Given the description of an element on the screen output the (x, y) to click on. 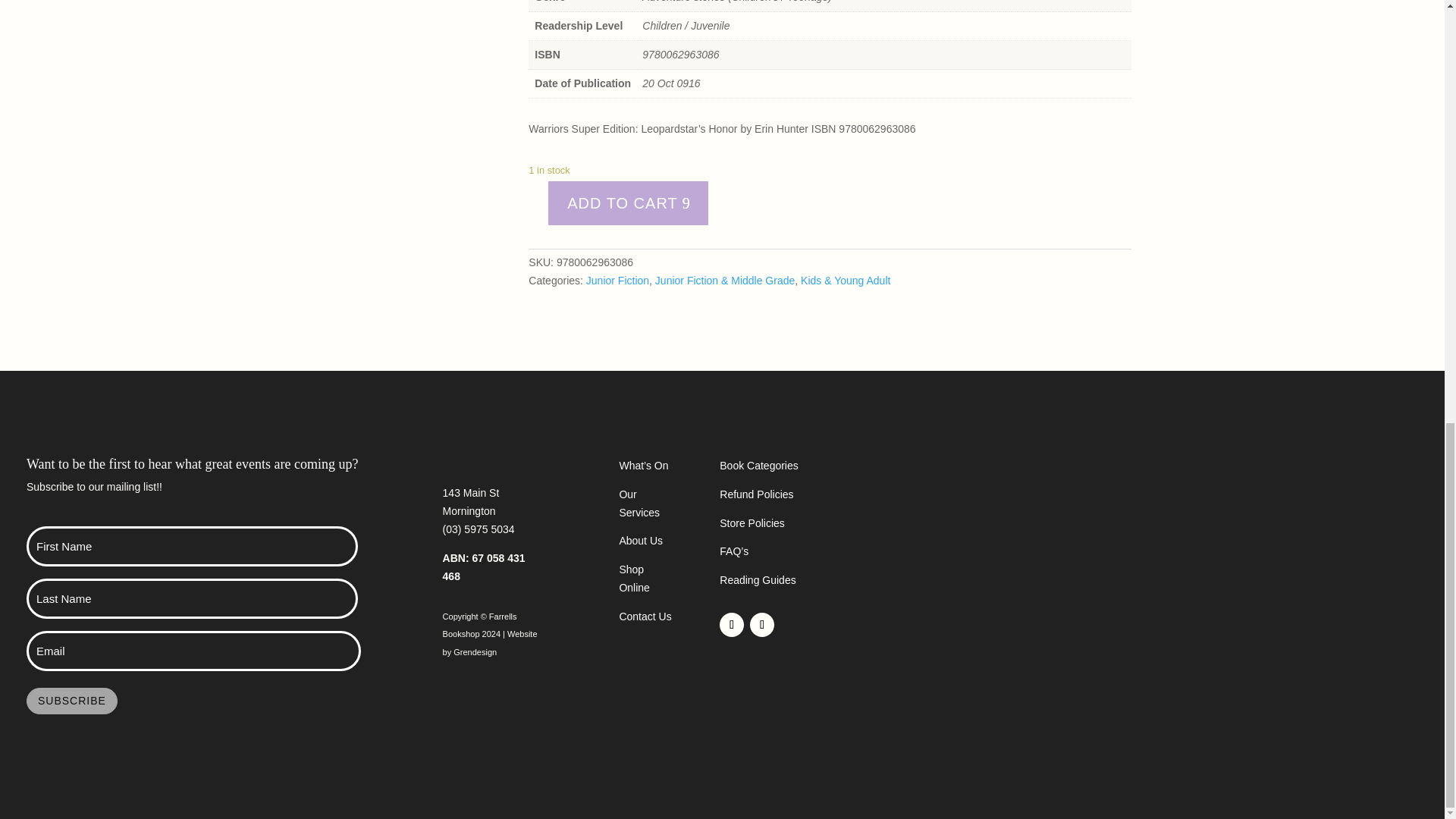
Subscribe (71, 700)
Subscribe (71, 700)
Our Services (638, 503)
ADD TO CART (628, 202)
Junior Fiction (617, 280)
Shop Online (633, 578)
Follow on Facebook (731, 624)
Follow on Instagram (761, 624)
About Us (640, 540)
